Given the description of an element on the screen output the (x, y) to click on. 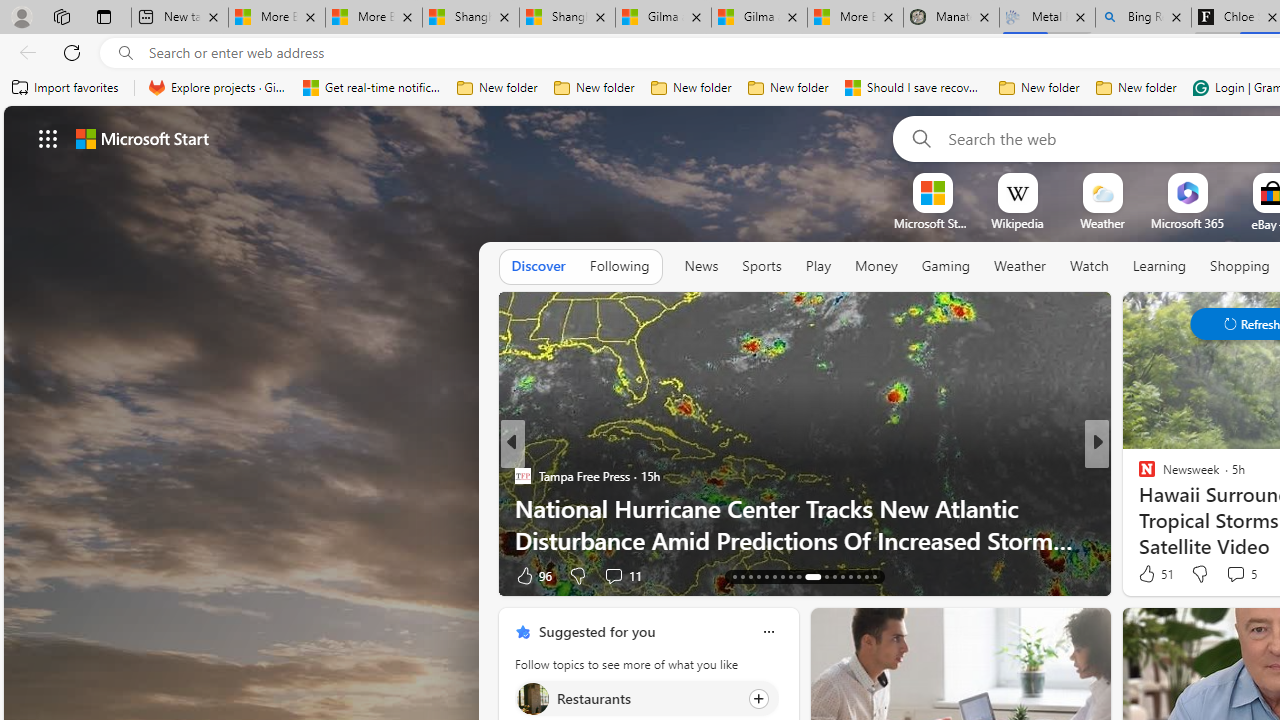
Manatee Mortality Statistics | FWC (951, 17)
AutomationID: tab-21 (765, 576)
51 Like (1154, 574)
AutomationID: tab-26 (812, 576)
Microsoft start (142, 138)
View comments 1 Comment (11, 575)
AutomationID: tab-22 (774, 576)
Wikipedia (1017, 223)
AutomationID: tab-28 (833, 576)
